Given the description of an element on the screen output the (x, y) to click on. 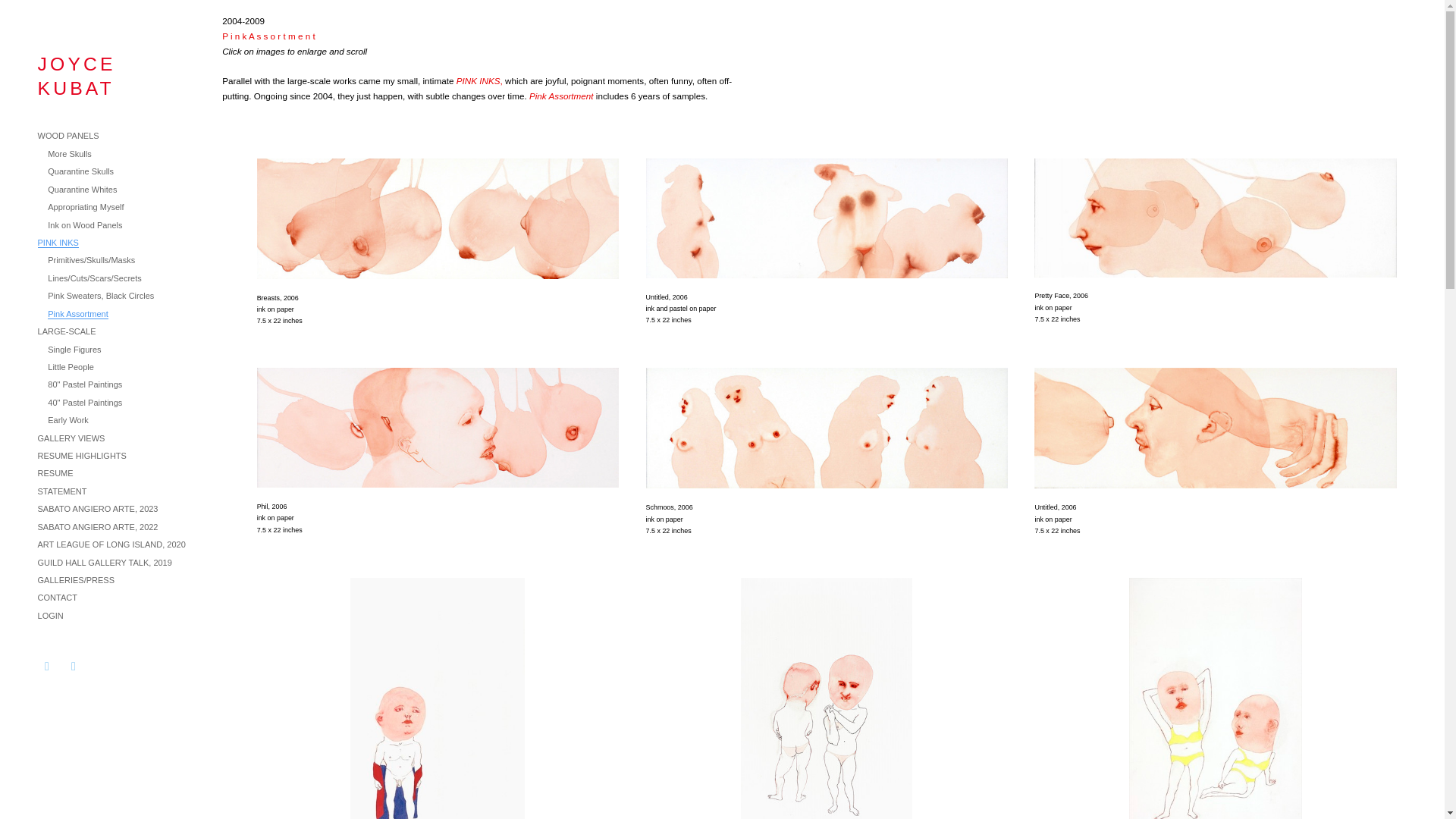
SABATO ANGIERO ARTE, 2022 (97, 526)
STATEMENT (62, 491)
Early Work (68, 420)
40" Pastel Paintings (85, 402)
WOOD PANELS (68, 135)
Little People (71, 366)
Pink Assortment (77, 314)
PINK INKS (57, 243)
Single Figures (74, 347)
More Skulls (69, 153)
Pink Sweaters, Black Circles (101, 295)
LARGE-SCALE (66, 330)
GUILD HALL GALLERY TALK, 2019 (104, 562)
RESUME HIGHLIGHTS (81, 455)
Ink on Wood Panels (85, 225)
